Given the description of an element on the screen output the (x, y) to click on. 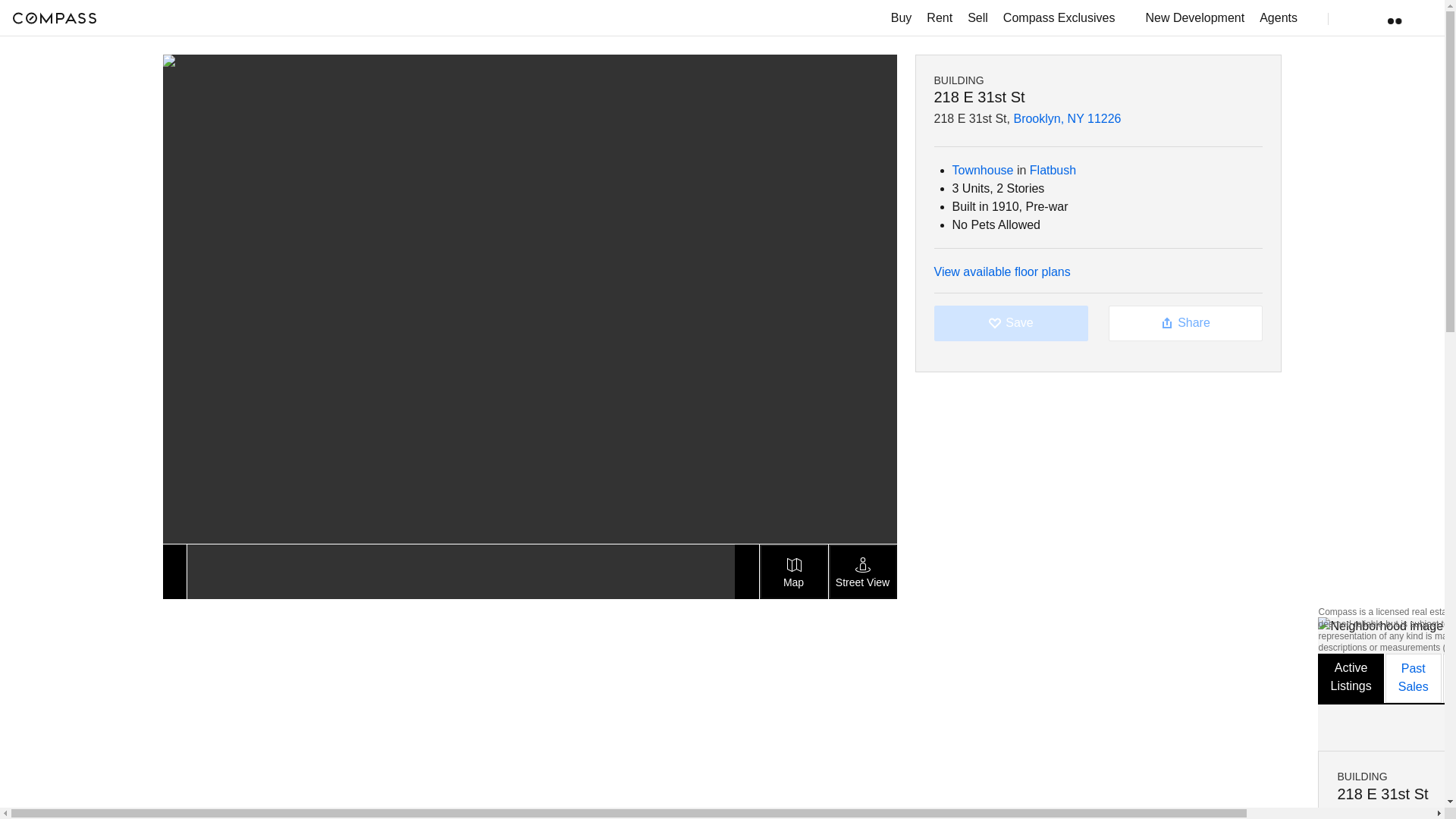
Buy (901, 18)
New Development (1194, 18)
Sell (977, 18)
Active Listings (1350, 677)
Rent (938, 18)
Townhouse (982, 169)
Brooklyn, NY 11226 (1436, 814)
Map (794, 571)
Save (1011, 323)
